Given the description of an element on the screen output the (x, y) to click on. 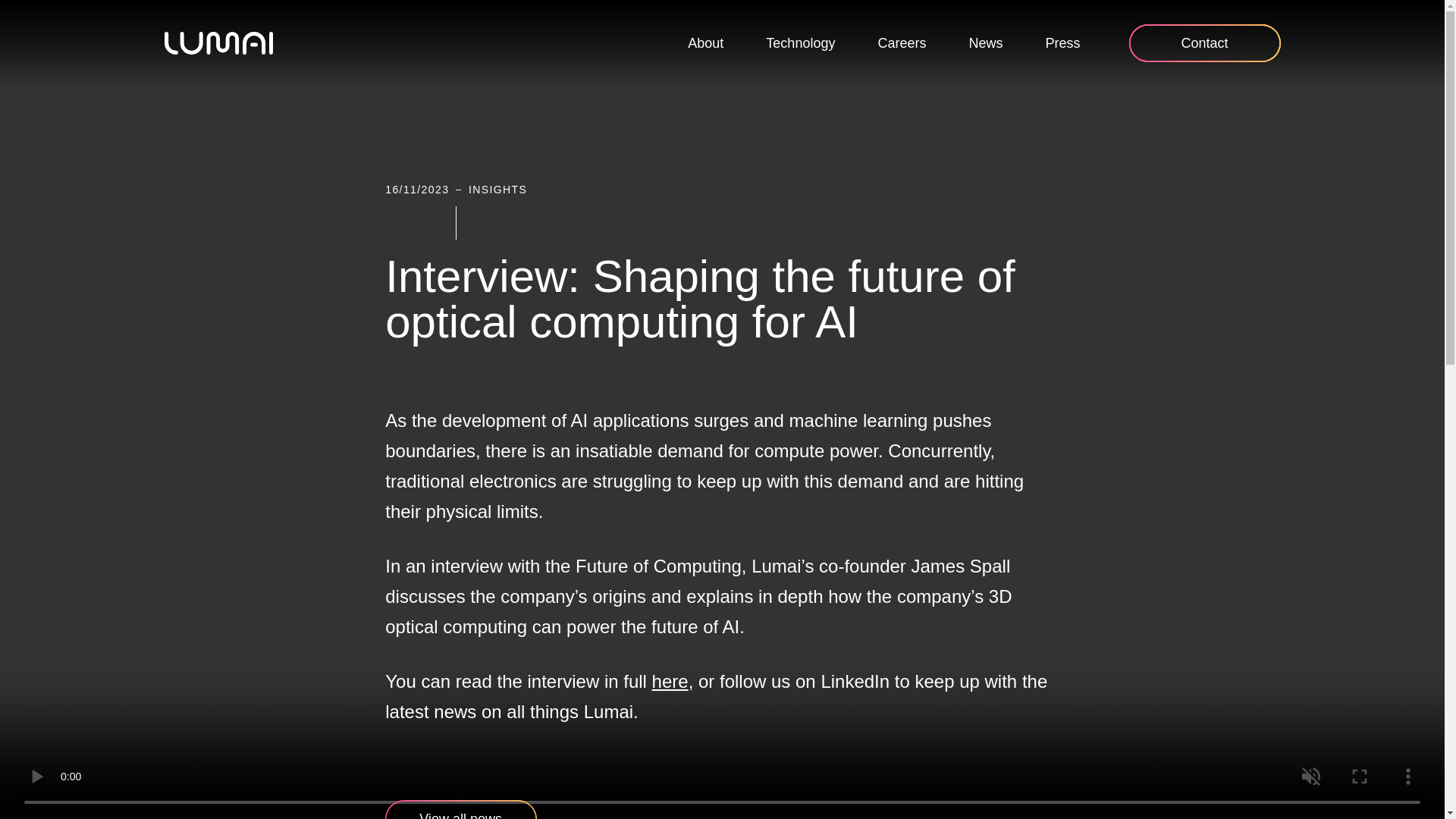
About (705, 44)
News (985, 44)
Technology (799, 44)
here (670, 680)
Contact (1203, 43)
Press (1062, 44)
View all news (461, 809)
Contact (1203, 43)
View all news (461, 809)
Careers (901, 44)
